Given the description of an element on the screen output the (x, y) to click on. 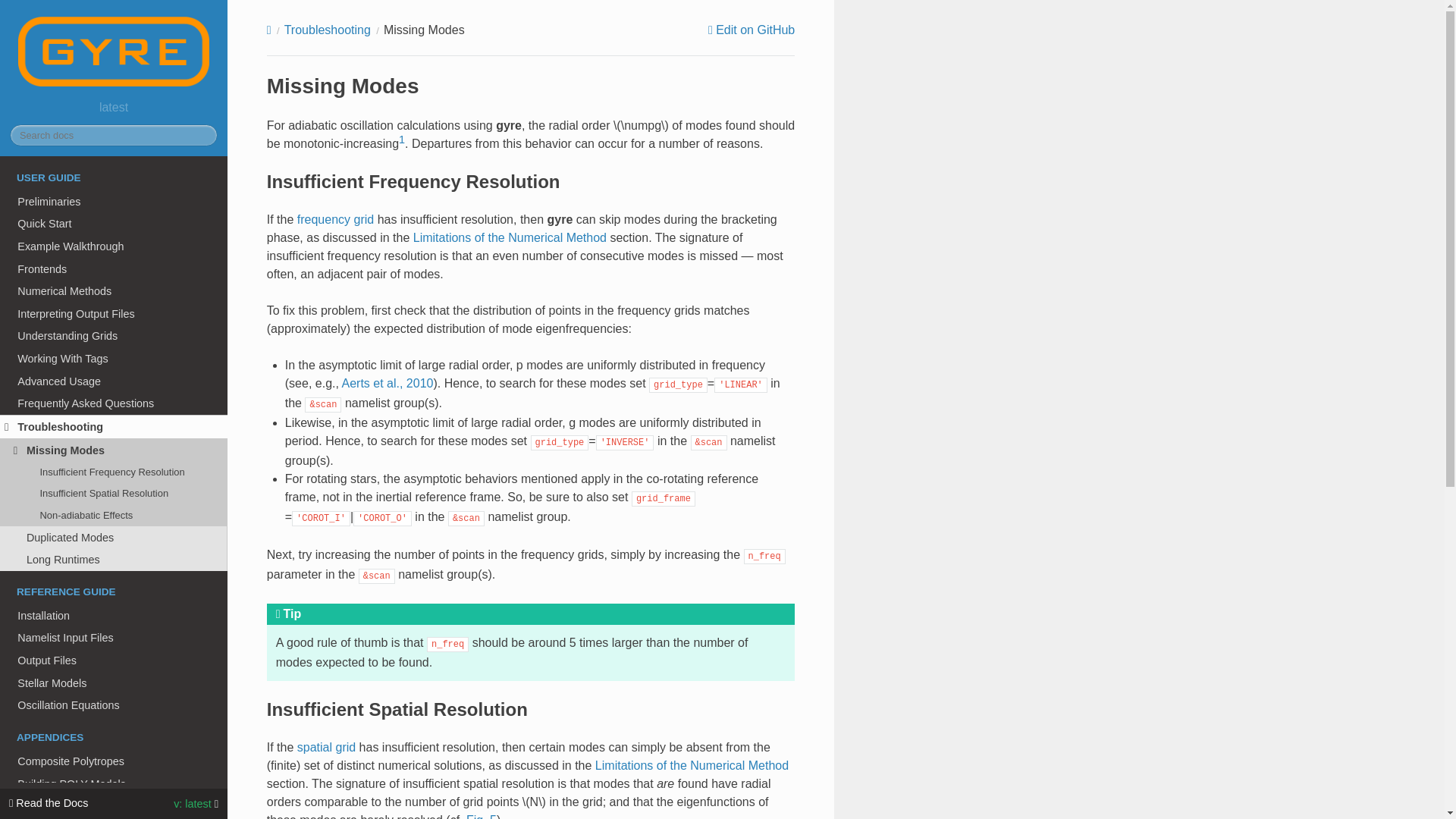
Frontends (113, 268)
Example Walkthrough (113, 246)
Insufficient Frequency Resolution (113, 471)
Quick Start (113, 223)
Oscillation Equations (113, 705)
Building POLY Models (113, 784)
Installation (113, 615)
Preliminaries (113, 201)
Long Runtimes (113, 558)
Output Files (113, 660)
Limitations of the Numerical Method (510, 237)
Insufficient Spatial Resolution (113, 493)
Composite Polytropes (113, 761)
frequency grid (335, 219)
Non-adiabatic Effects (113, 514)
